Given the description of an element on the screen output the (x, y) to click on. 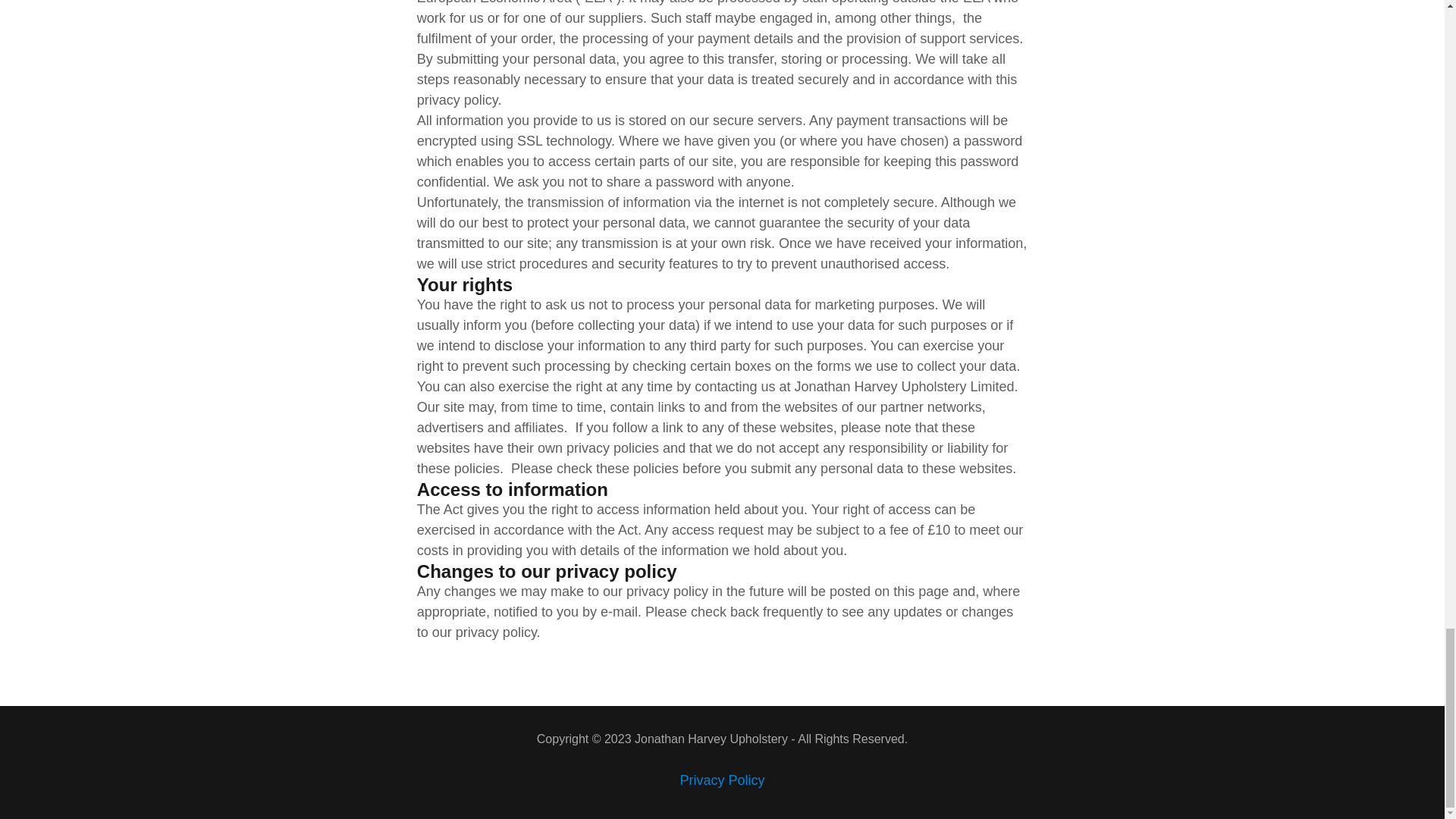
Privacy Policy (721, 780)
